Given the description of an element on the screen output the (x, y) to click on. 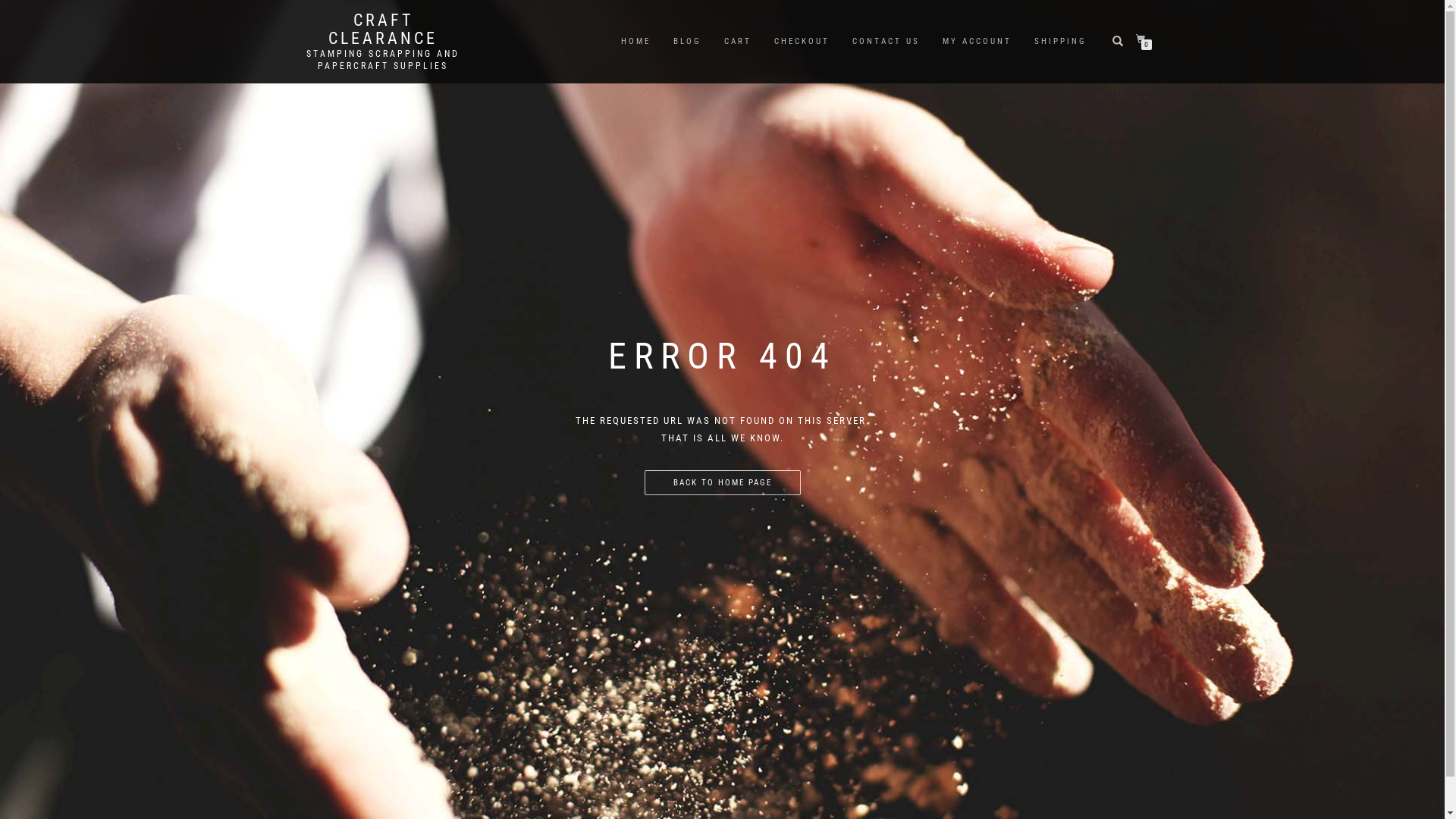
CART Element type: text (737, 41)
CONTACT US Element type: text (885, 41)
CHECKOUT Element type: text (801, 41)
HOME Element type: text (635, 41)
STAMPING SCRAPPING AND PAPERCRAFT SUPPLIES Element type: text (382, 59)
MY ACCOUNT Element type: text (976, 41)
BLOG Element type: text (686, 41)
CRAFT CLEARANCE Element type: text (382, 29)
SHIPPING Element type: text (1059, 41)
0 Element type: text (1143, 39)
BACK TO HOME PAGE Element type: text (722, 482)
